Given the description of an element on the screen output the (x, y) to click on. 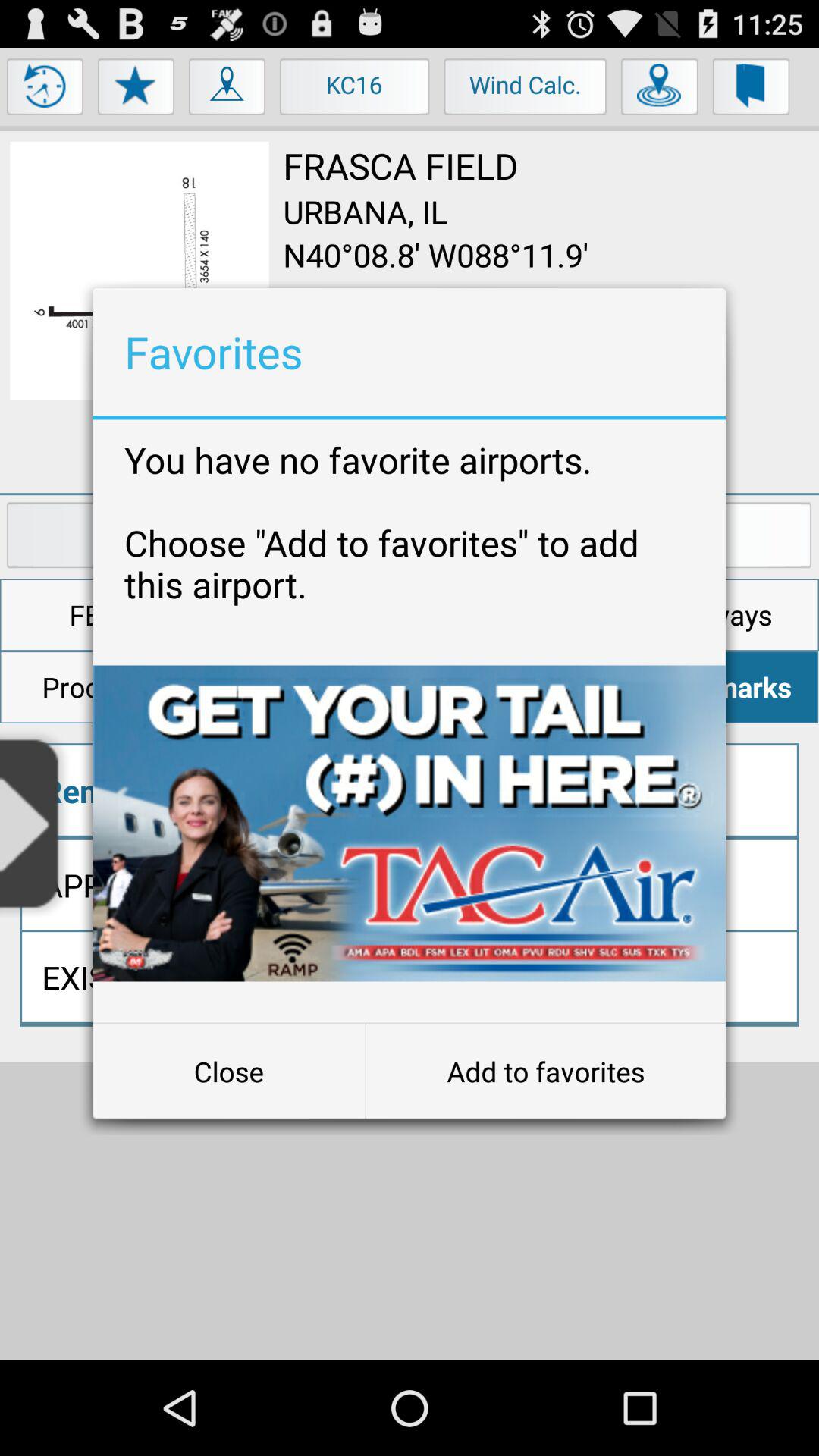
select advertisement (408, 823)
